Given the description of an element on the screen output the (x, y) to click on. 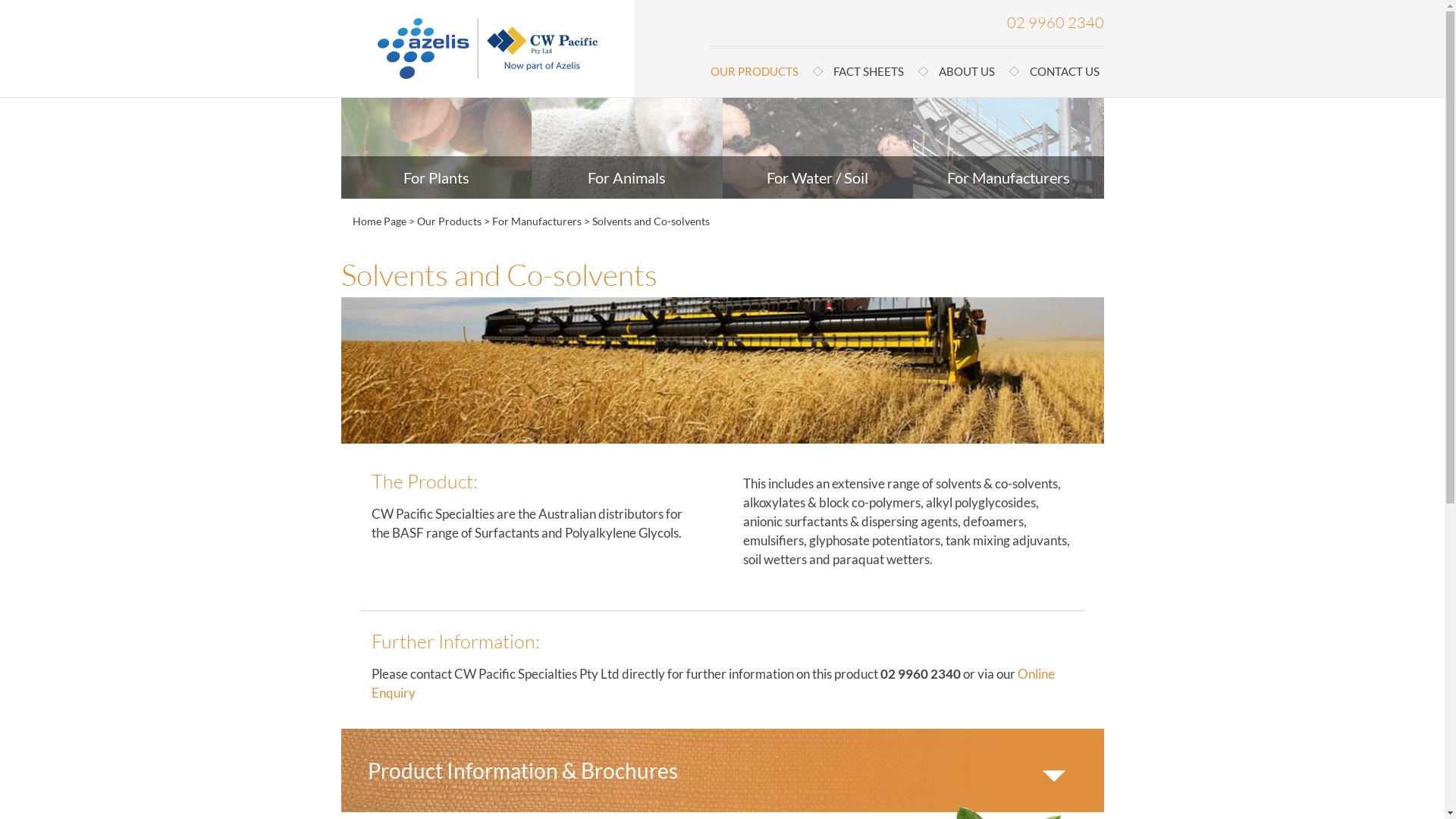
FACT SHEETS Element type: text (864, 71)
Home Page Element type: text (378, 220)
For Manufacturers Element type: text (535, 220)
For Animals Element type: text (626, 177)
Solvents and Co-solvents Element type: text (650, 220)
For Plants Element type: text (436, 177)
ABOUT US Element type: text (962, 71)
Online Enquiry Element type: text (712, 682)
Product Information & Brochures Element type: text (722, 770)
OUR PRODUCTS Element type: text (761, 71)
For Manufacturers Element type: text (1008, 177)
Our Products Element type: text (449, 220)
For Water / Soil Element type: text (817, 177)
CONTACT US Element type: text (1053, 71)
